Given the description of an element on the screen output the (x, y) to click on. 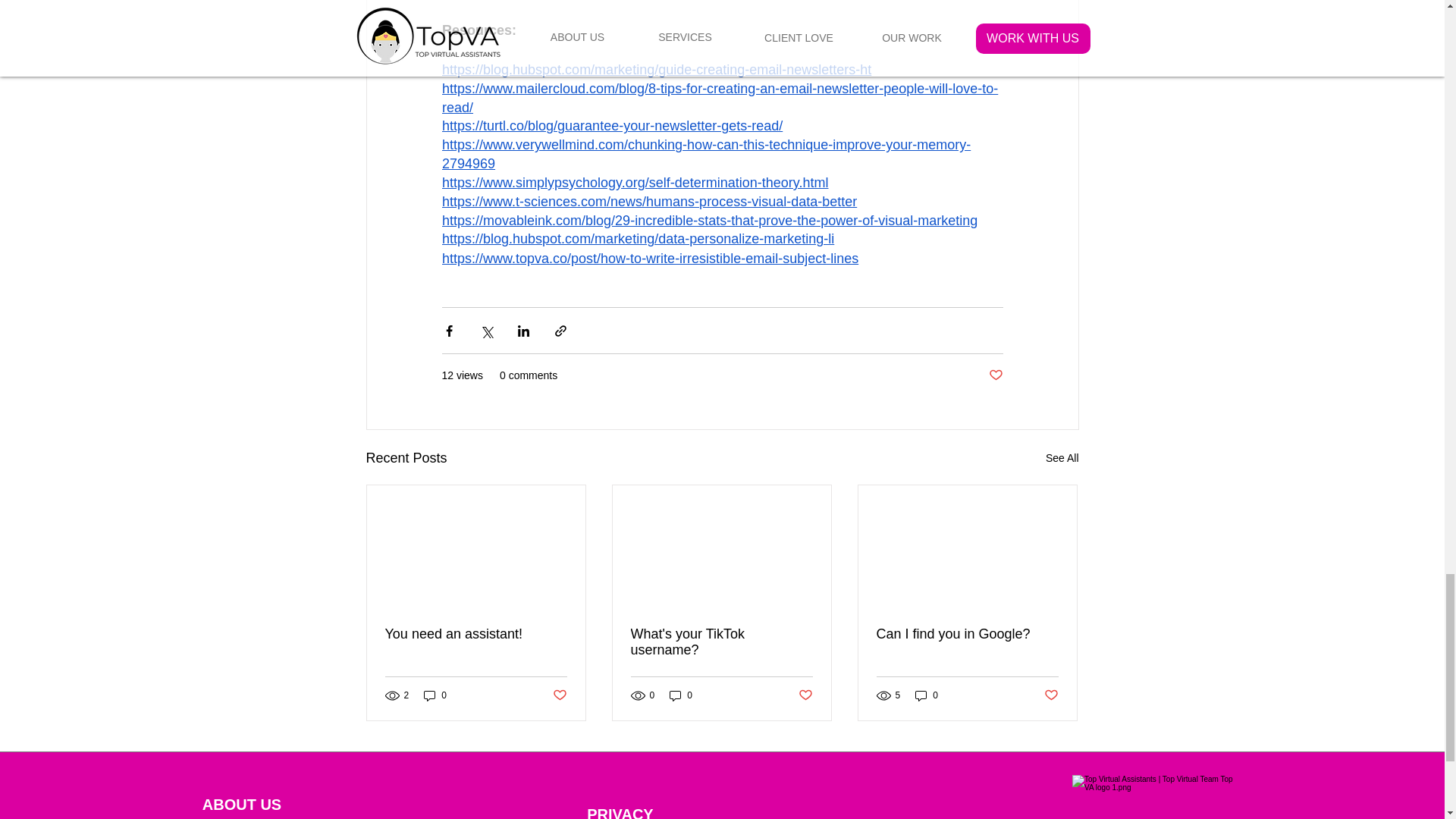
What's your TikTok username? (721, 642)
0 (681, 695)
See All (1061, 458)
Post not marked as liked (558, 695)
Post not marked as liked (804, 695)
0 (435, 695)
You need an assistant! (476, 634)
Post not marked as liked (995, 375)
